Given the description of an element on the screen output the (x, y) to click on. 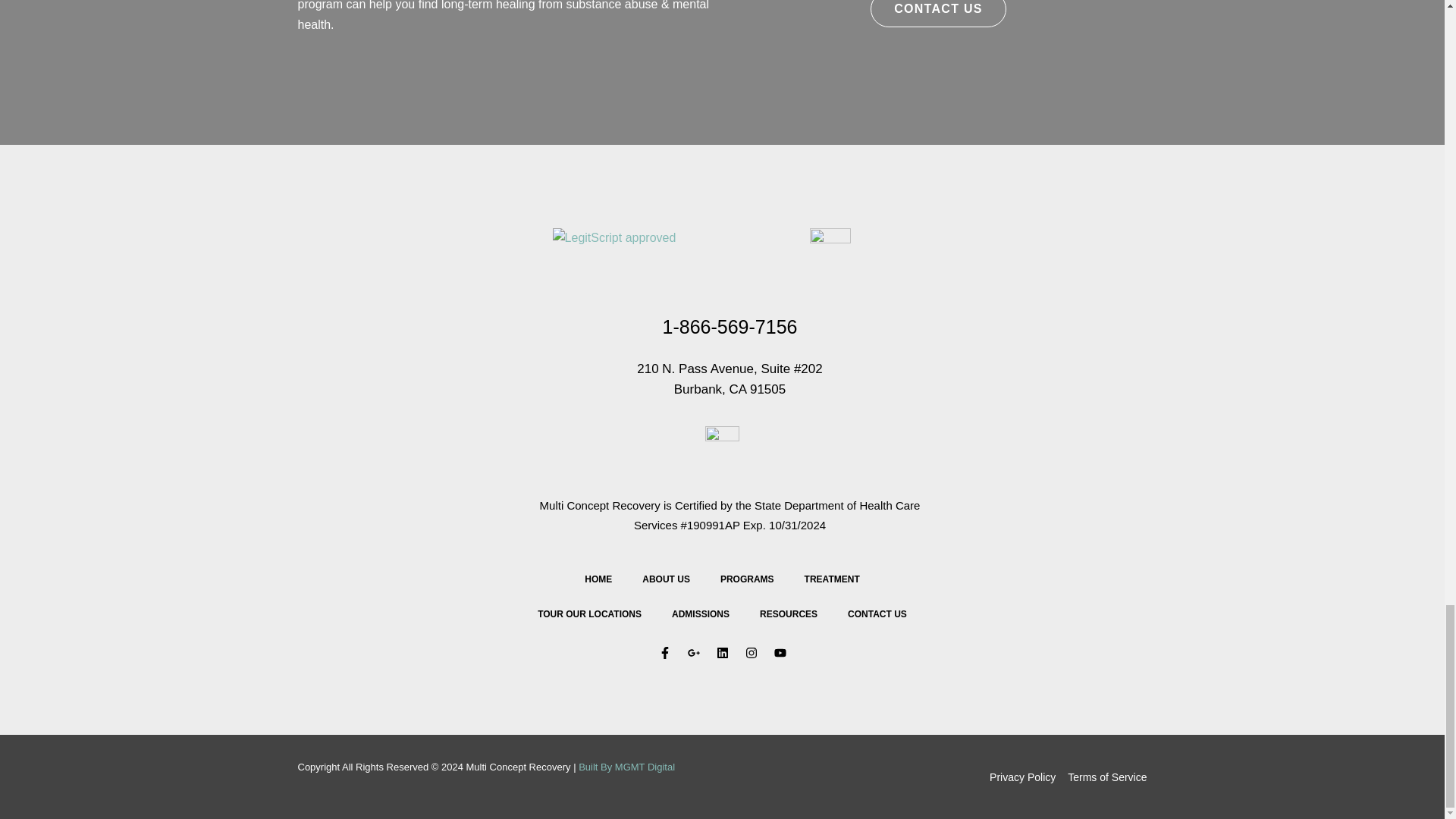
Verify LegitScript Approval (615, 237)
